Given the description of an element on the screen output the (x, y) to click on. 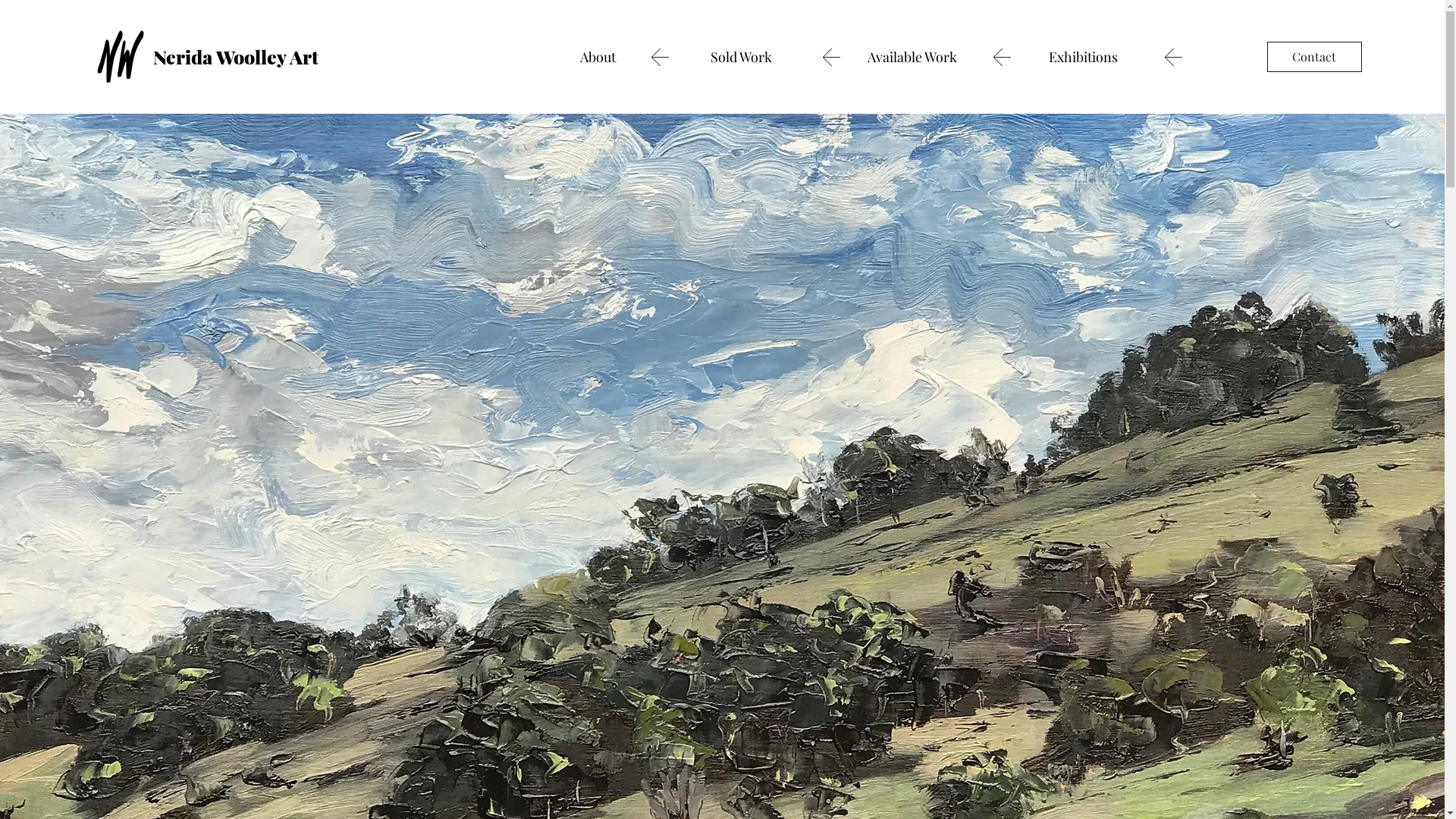
Exhibitions Element type: text (1082, 56)
Available Work Element type: text (912, 56)
About Element type: text (597, 56)
Sold Work Element type: text (740, 56)
Contact Element type: text (1314, 56)
Nerida Woolley Art Element type: text (235, 56)
